Given the description of an element on the screen output the (x, y) to click on. 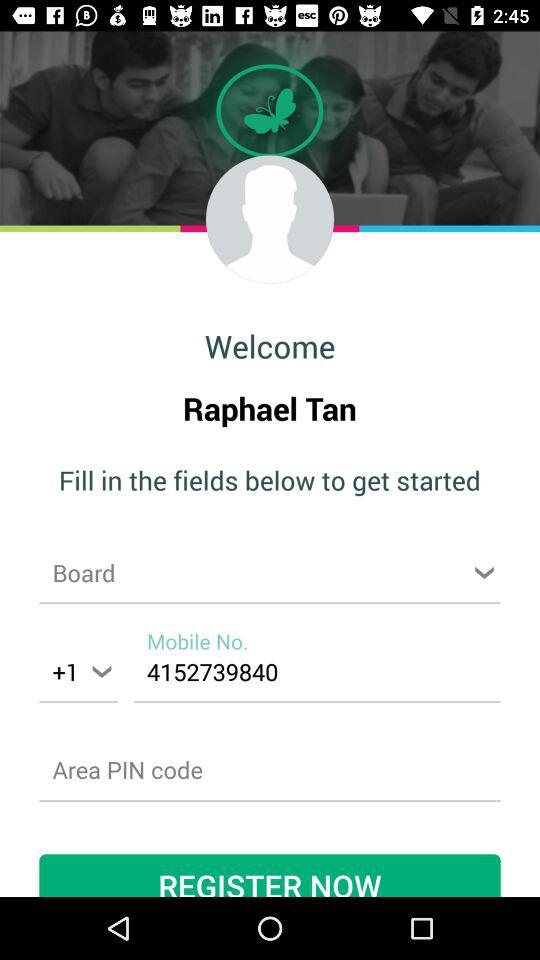
password page (269, 770)
